Given the description of an element on the screen output the (x, y) to click on. 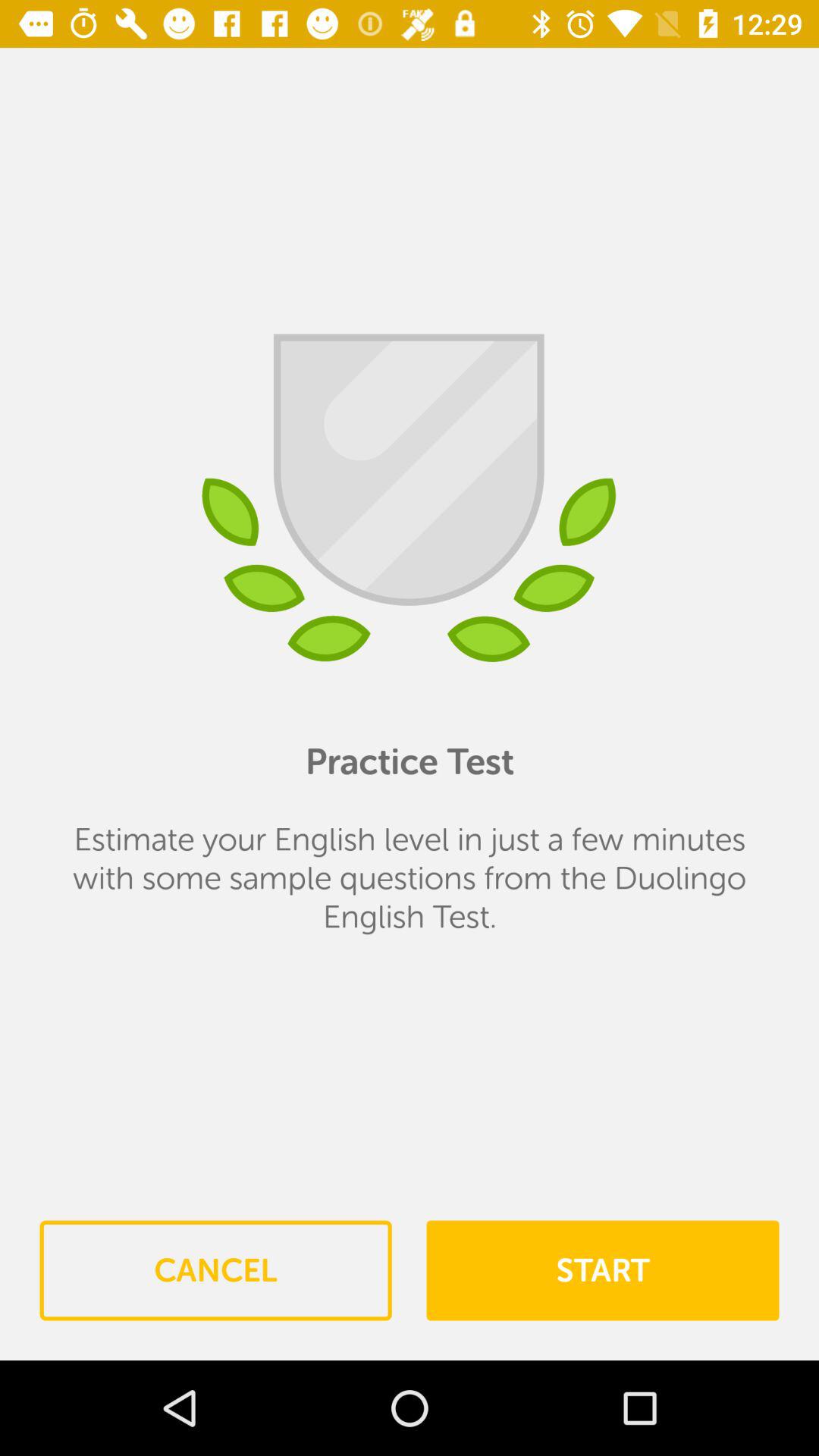
press icon next to the cancel item (602, 1270)
